Given the description of an element on the screen output the (x, y) to click on. 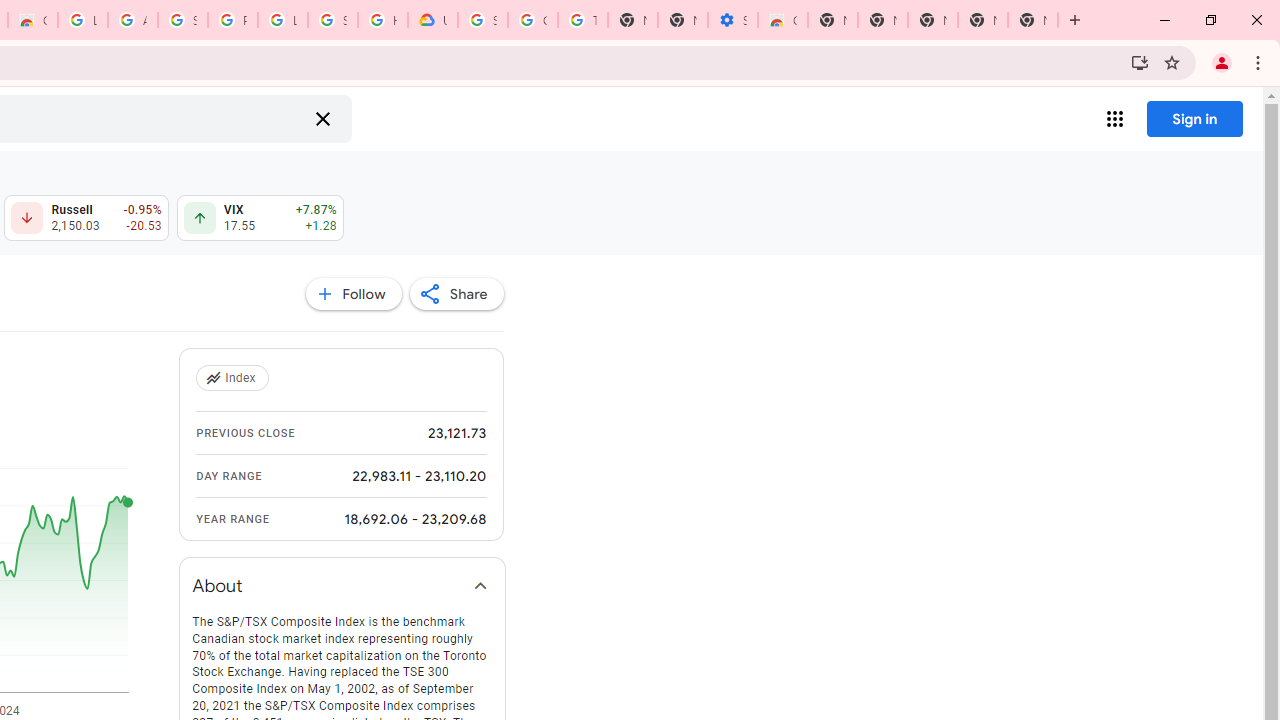
Sign in - Google Accounts (182, 20)
Sign in - Google Accounts (483, 20)
Clear search (322, 118)
Russell 2,150.03 Down by 0.95% -20.53 (85, 218)
Chrome Web Store - Accessibility extensions (782, 20)
Google Account Help (533, 20)
New Tab (1032, 20)
Share (456, 293)
Install Google Finance (1139, 62)
